Given the description of an element on the screen output the (x, y) to click on. 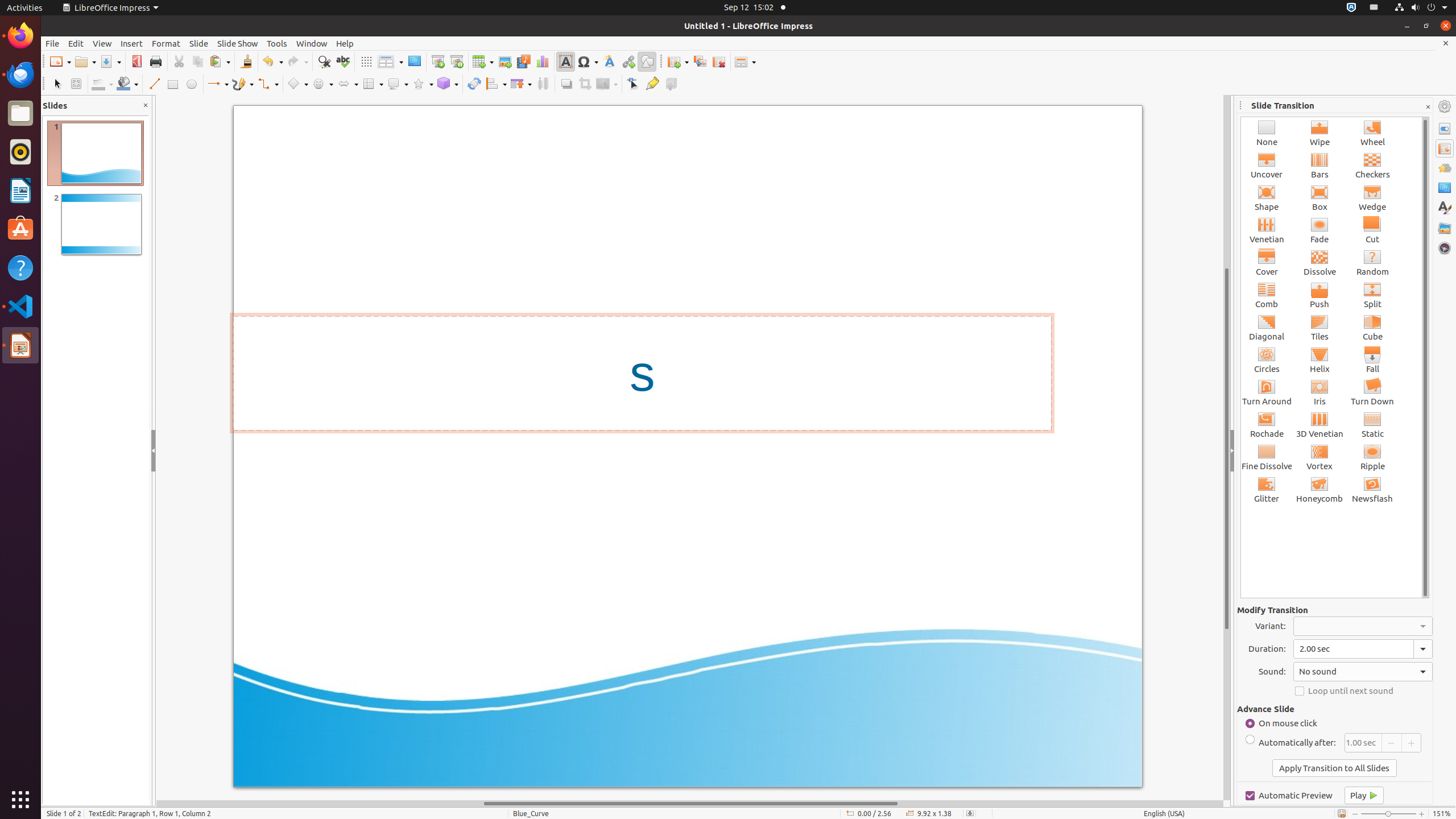
Automatically after: Element type: radio-button (1290, 742)
Visual Studio Code Element type: push-button (20, 306)
Insert Element type: menu (131, 43)
Glitter Element type: list-item (1266, 489)
Newsflash Element type: list-item (1372, 489)
